Given the description of an element on the screen output the (x, y) to click on. 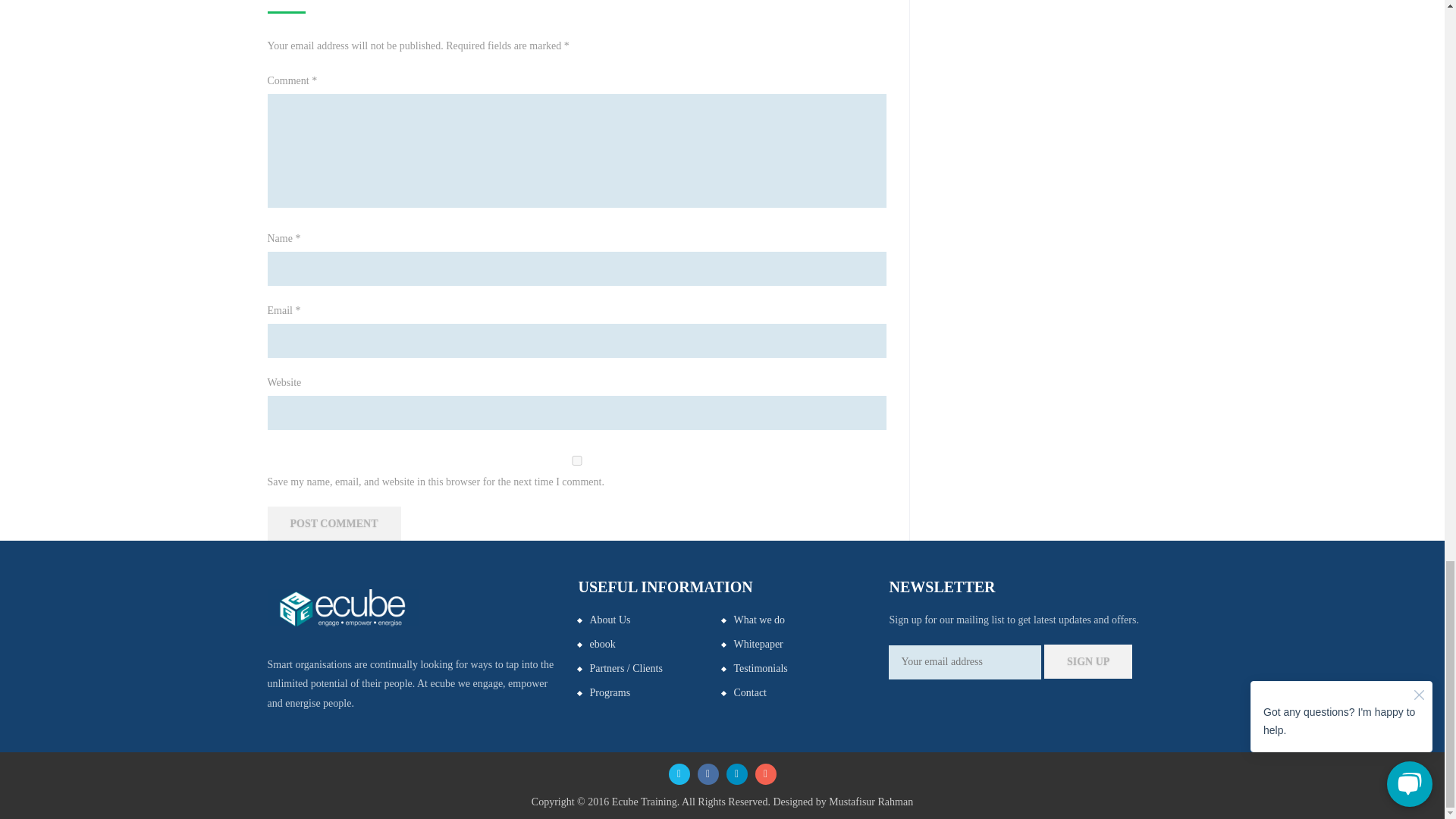
yes (575, 460)
Sign up (1087, 661)
Post Comment (333, 523)
